Given the description of an element on the screen output the (x, y) to click on. 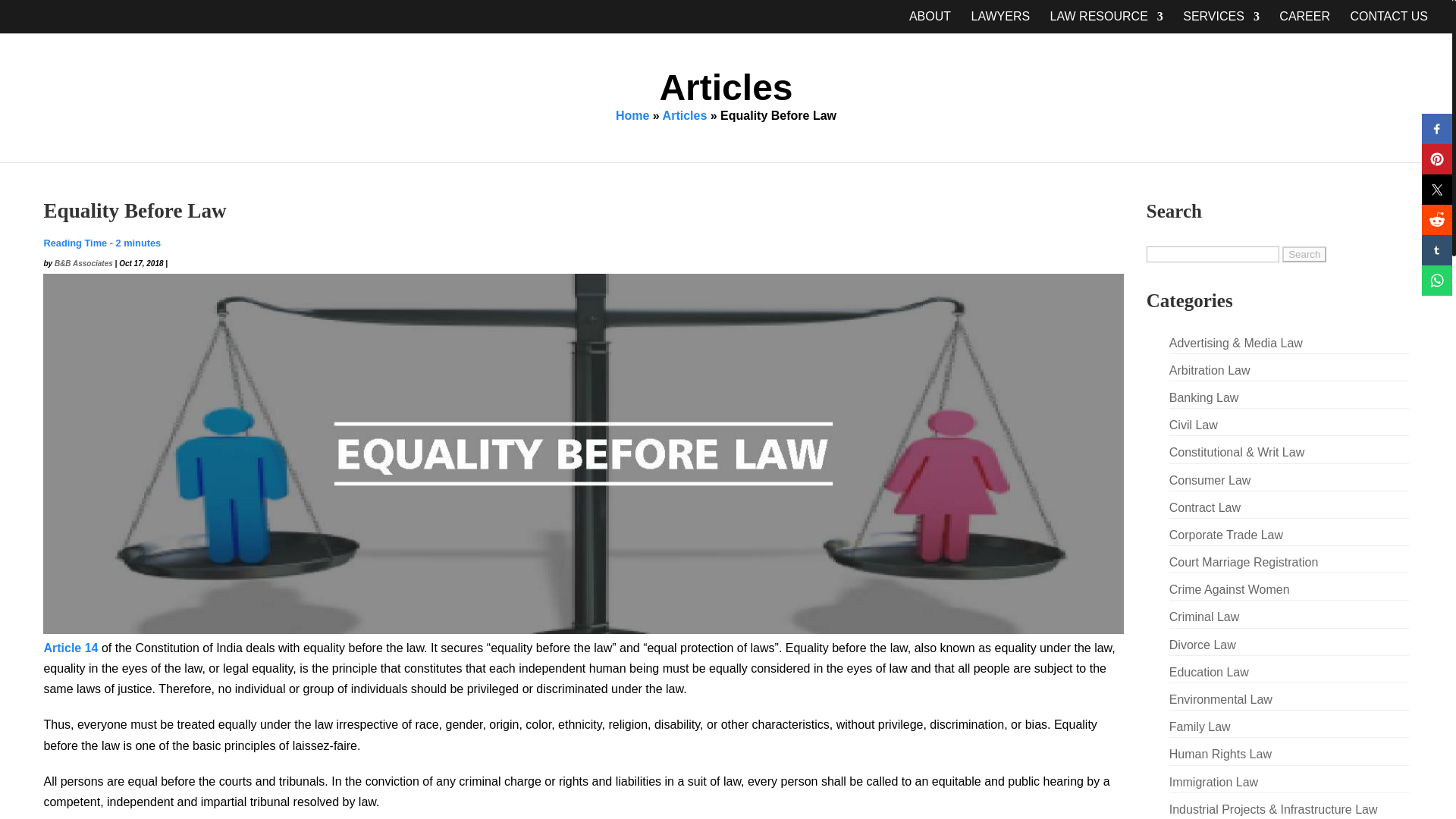
LAW RESOURCE (1106, 22)
CONTACT US (1388, 22)
SERVICES (1220, 22)
Search (1304, 254)
CAREER (1304, 22)
ABOUT (929, 22)
LAWYERS (1000, 22)
